Given the description of an element on the screen output the (x, y) to click on. 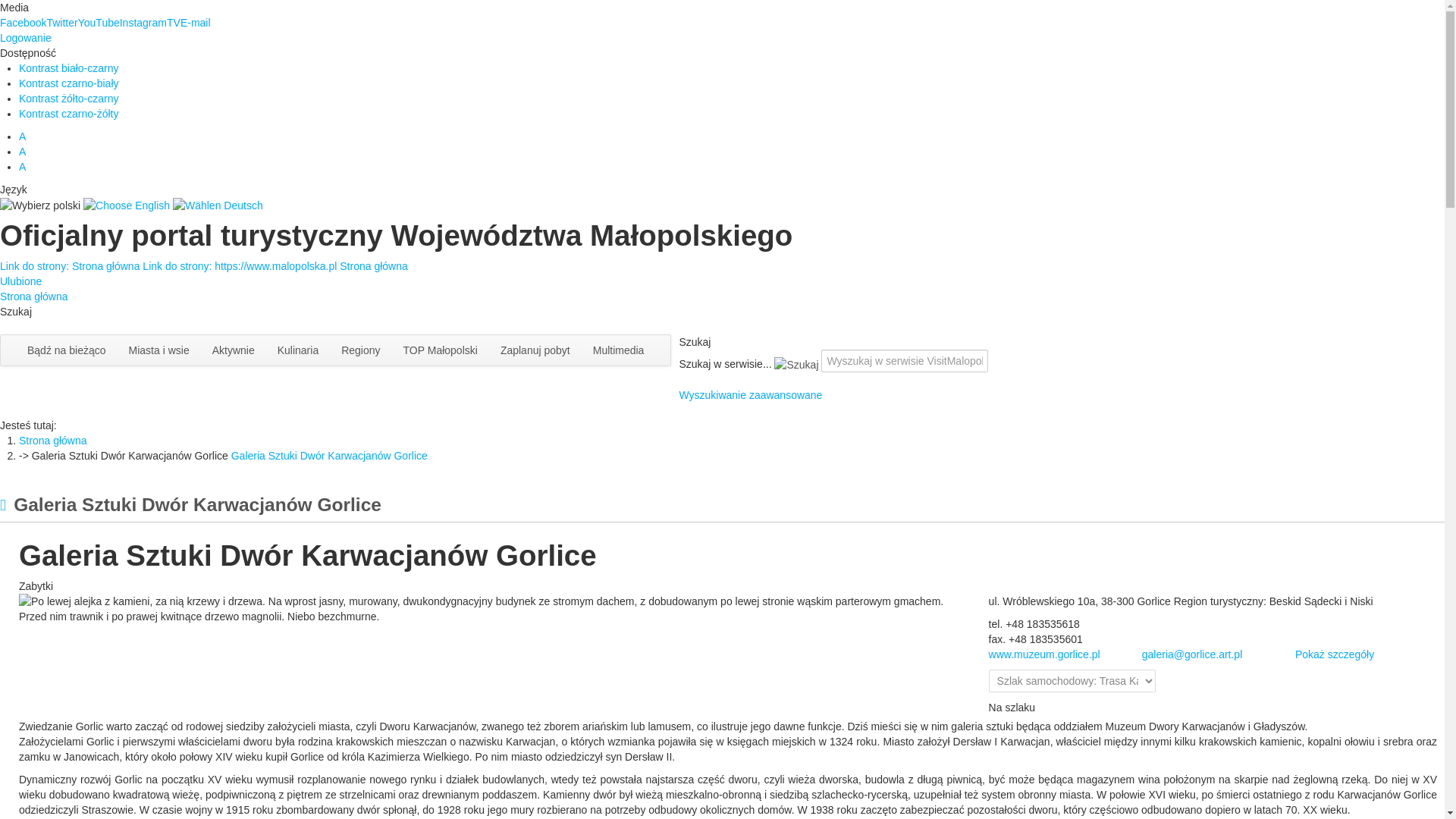
Aktywnie (233, 349)
Facebook (23, 22)
Twitter (61, 22)
YouTube (98, 22)
Logowanie (25, 37)
Kulinaria (298, 349)
English (127, 204)
TV (173, 22)
Deutsch (218, 204)
Instagram (143, 22)
Wyszukaj w serwisie (904, 360)
E-mail (195, 22)
Miasta i wsie (158, 349)
Szukaj w serwisie... (796, 364)
